Given the description of an element on the screen output the (x, y) to click on. 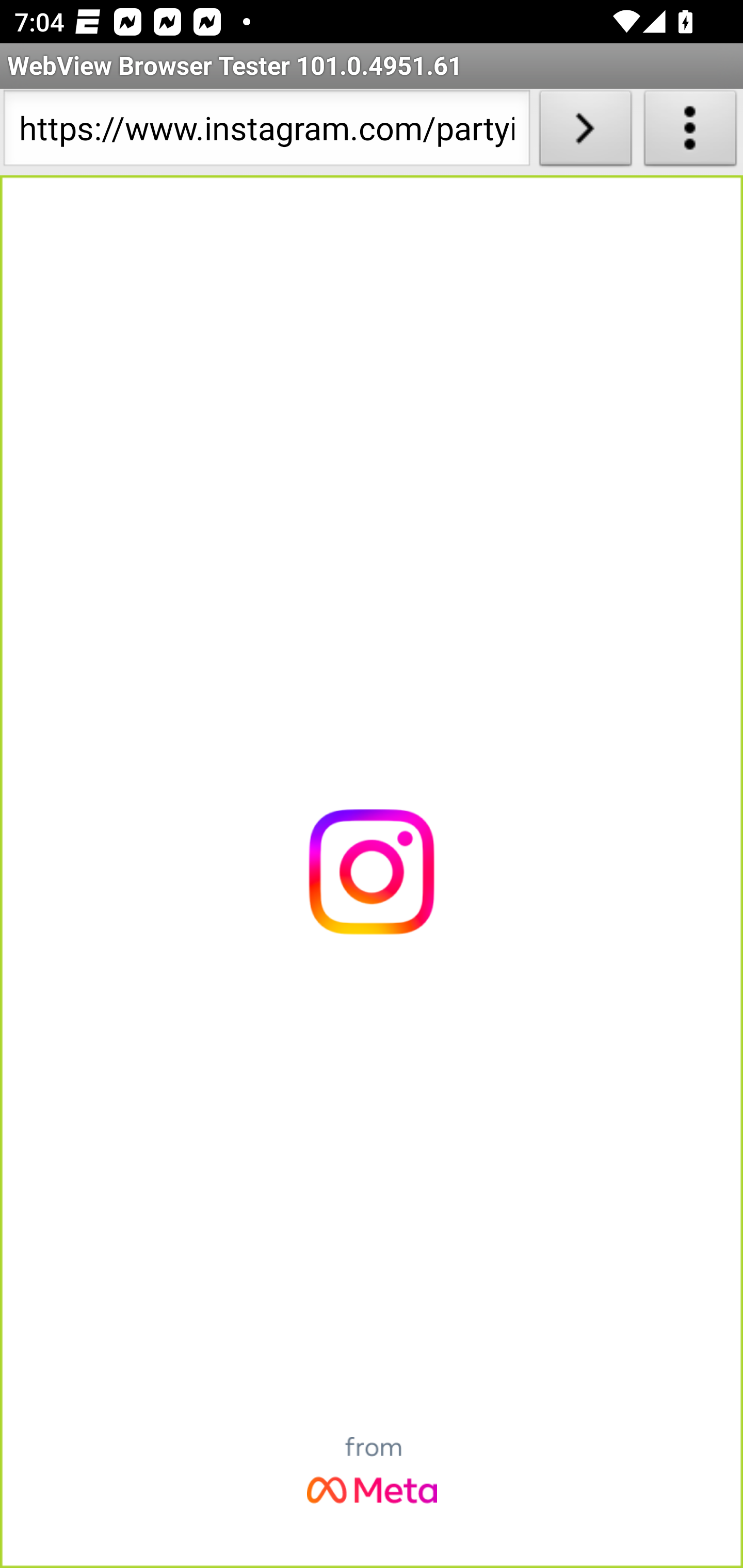
https://www.instagram.com/partyinkers/ (266, 132)
Load URL (585, 132)
About WebView (690, 132)
